Given the description of an element on the screen output the (x, y) to click on. 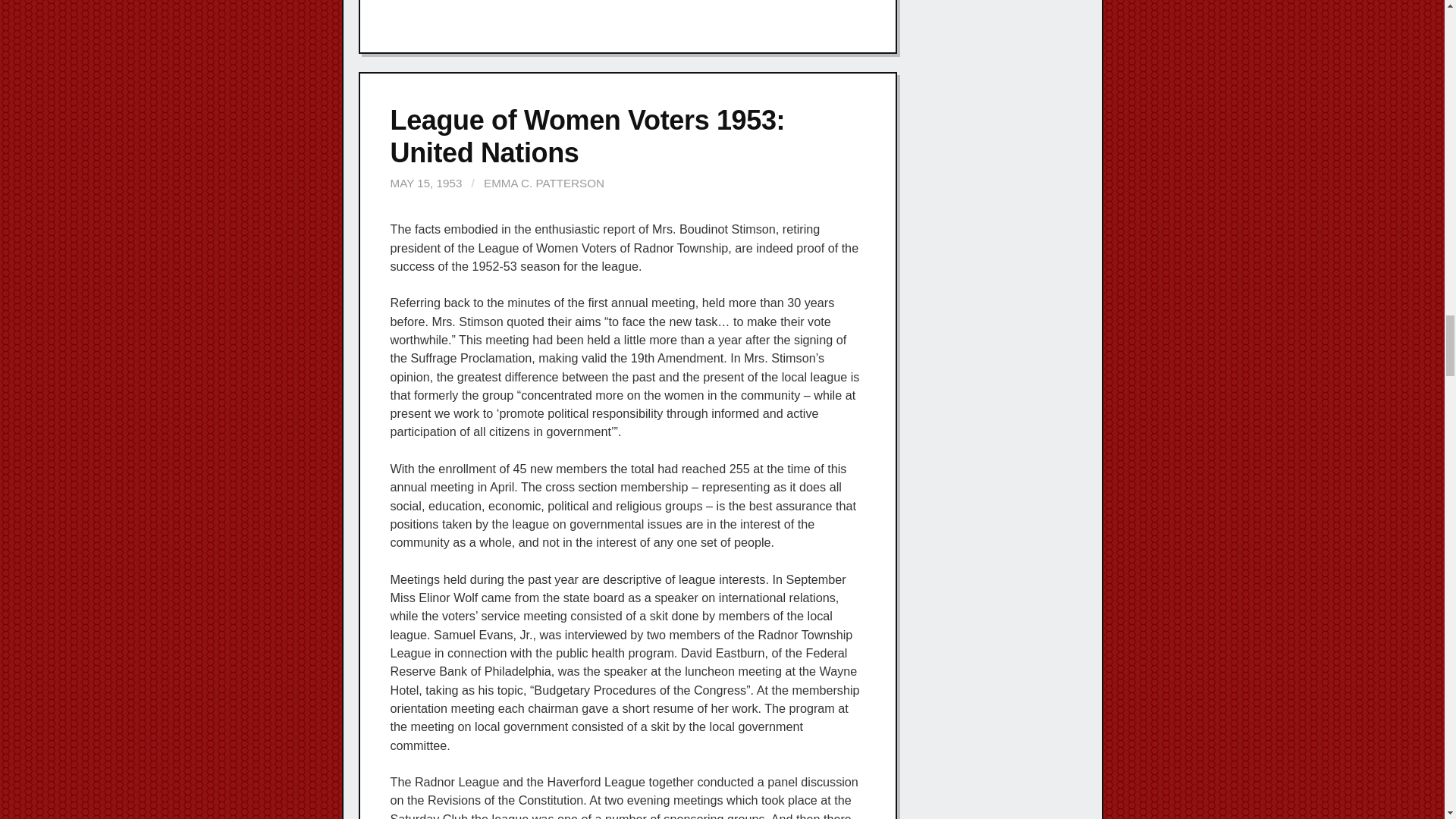
MAY 15, 1953 (425, 182)
EMMA C. PATTERSON (543, 182)
League of Women Voters 1953: United Nations (587, 136)
